Given the description of an element on the screen output the (x, y) to click on. 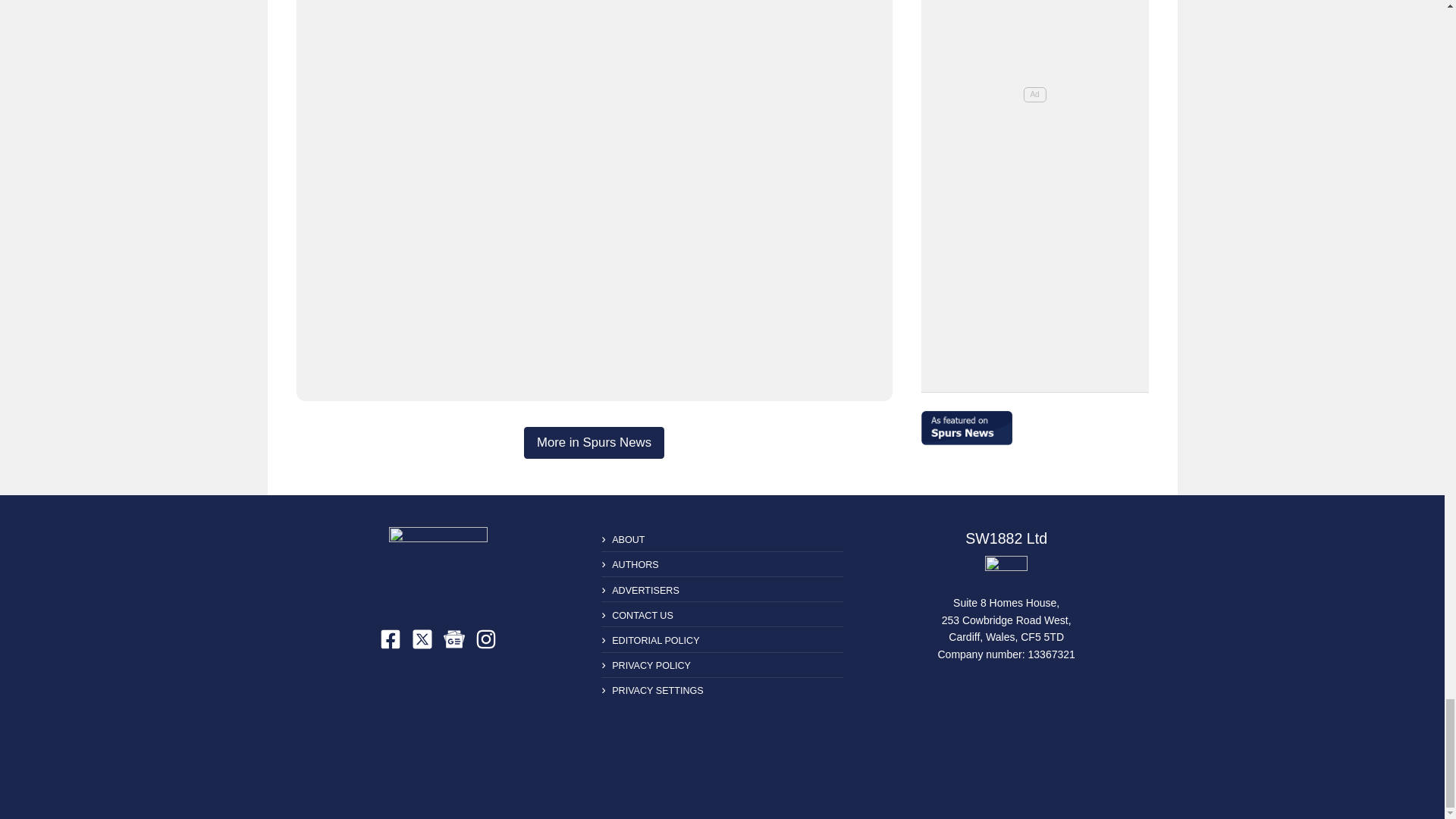
The Spurs Web - Tottenham Hotspur Football News on Instagram (486, 639)
The Spurs Web - Tottenham Hotspur Football News on Facebook (390, 639)
Spurs Web (1005, 572)
The Spurs Web - Tottenham Hotspur Football News (438, 566)
More in Spurs News (593, 442)
The Spurs Web - Tottenham Hotspur Football News on X (422, 639)
